Given the description of an element on the screen output the (x, y) to click on. 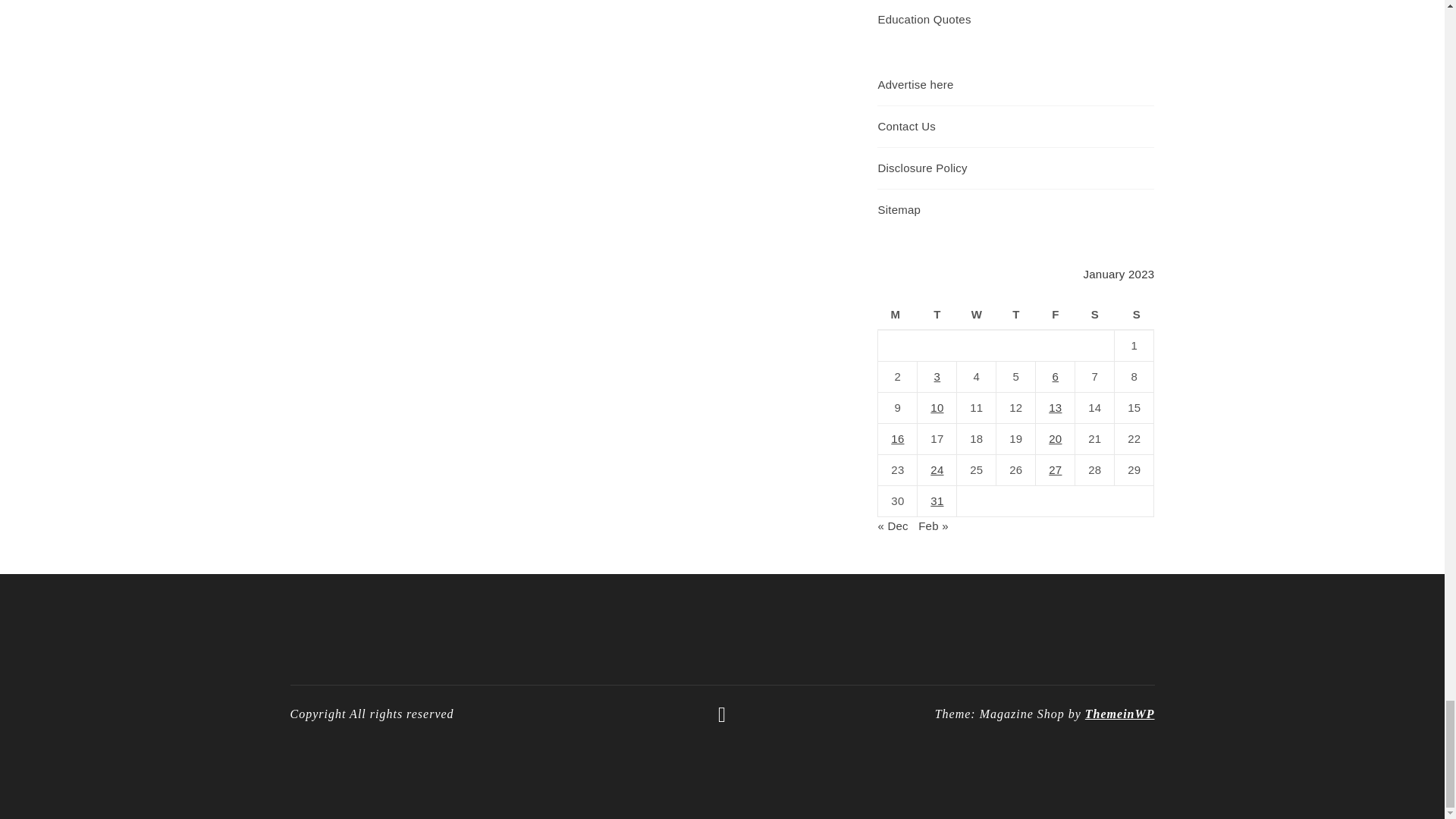
Wednesday (975, 315)
Tuesday (936, 315)
Saturday (1095, 315)
Sunday (1134, 315)
Thursday (1015, 315)
Friday (1055, 315)
Monday (897, 315)
